Given the description of an element on the screen output the (x, y) to click on. 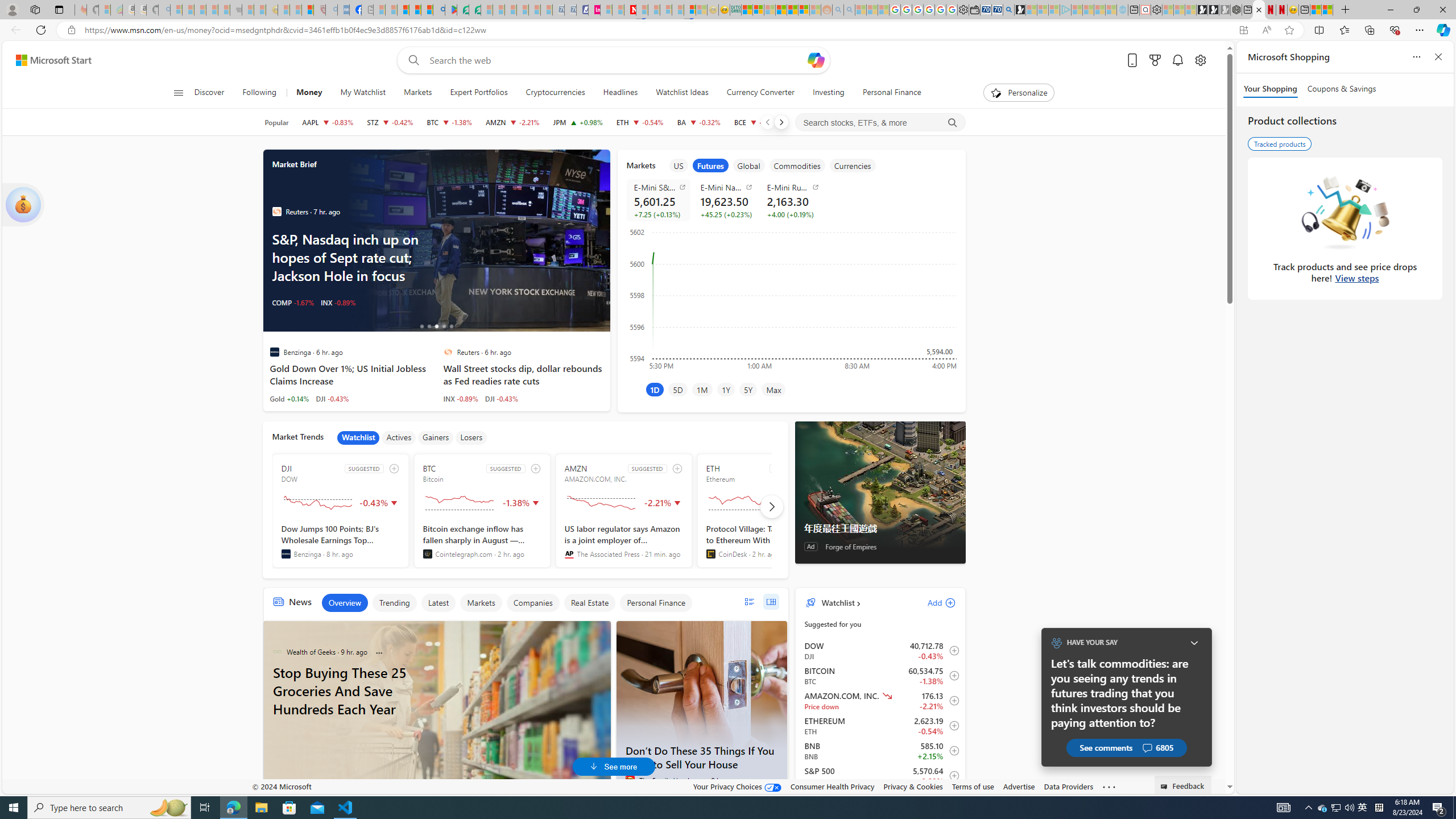
BA THE BOEING COMPANY decrease 172.87 -0.56 -0.32% (698, 122)
ETH Ethereum decrease 2,623.19 -14.14 -0.54% (639, 122)
Add to Watchlist (950, 775)
Data Providers (1068, 786)
show card (22, 204)
